Given the description of an element on the screen output the (x, y) to click on. 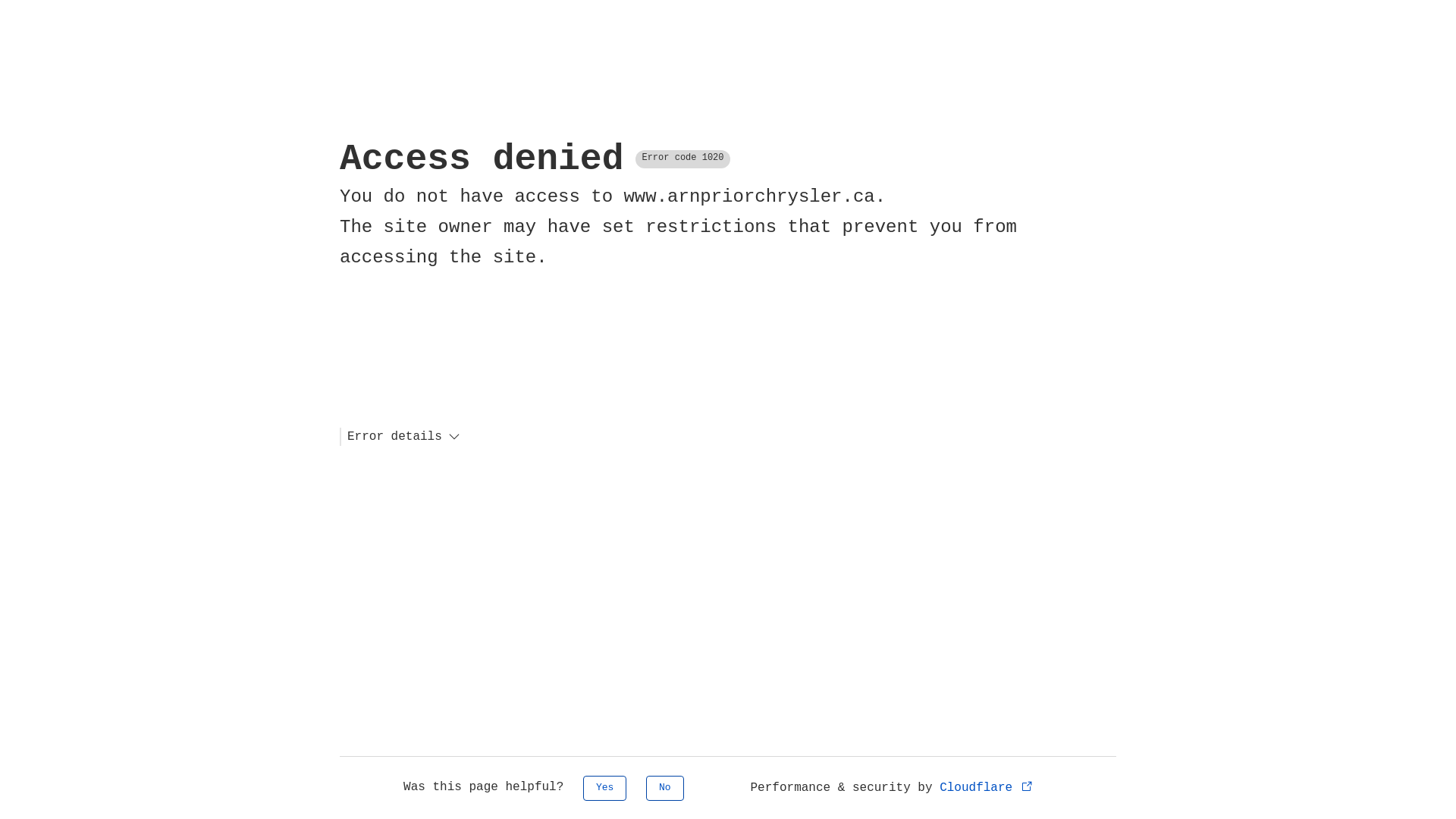
Yes Element type: text (604, 787)
No Element type: text (665, 787)
Opens in new tab Element type: hover (1027, 785)
Cloudflare Element type: text (986, 787)
